Given the description of an element on the screen output the (x, y) to click on. 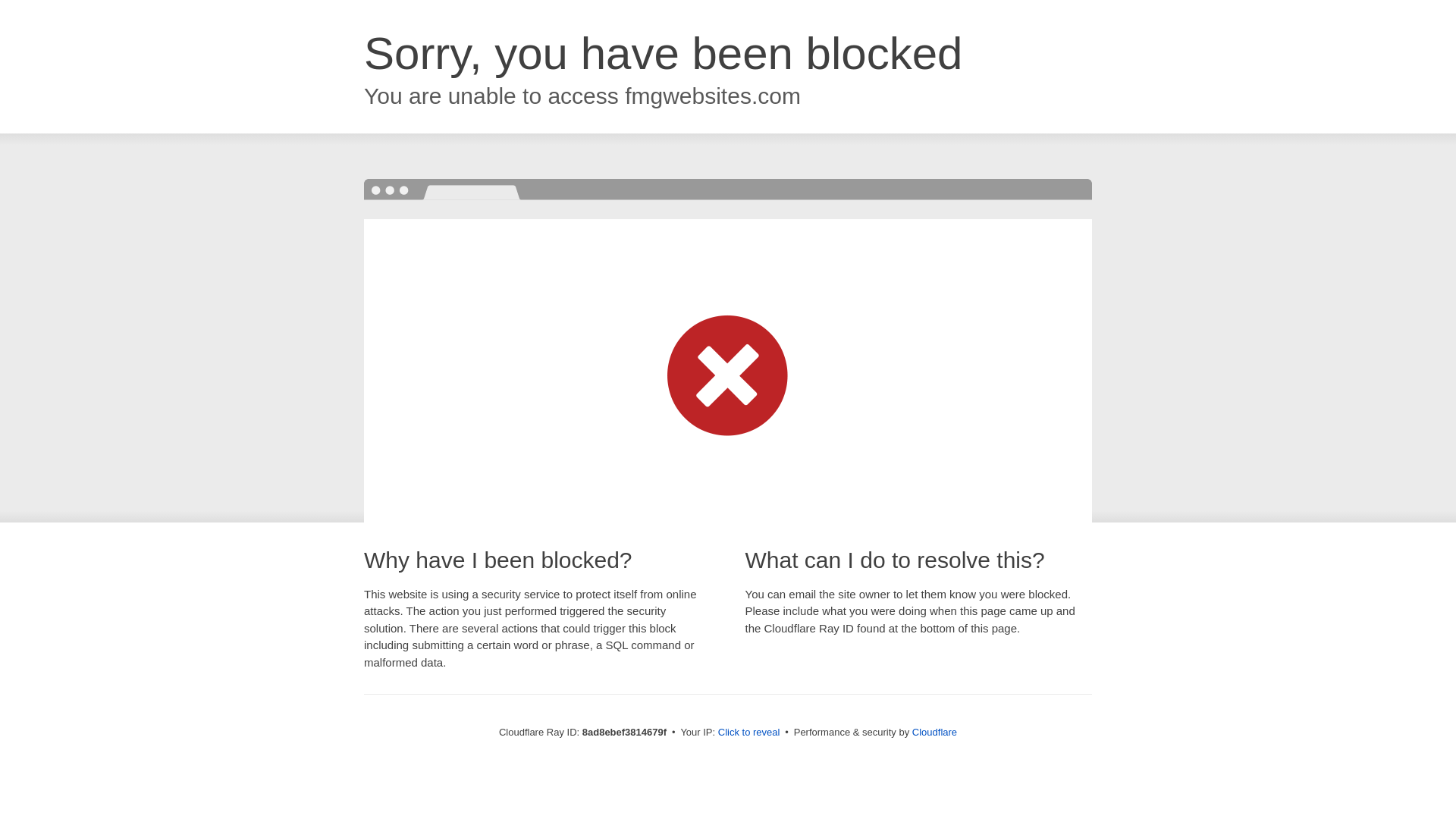
Click to reveal (748, 732)
Cloudflare (934, 731)
